Given the description of an element on the screen output the (x, y) to click on. 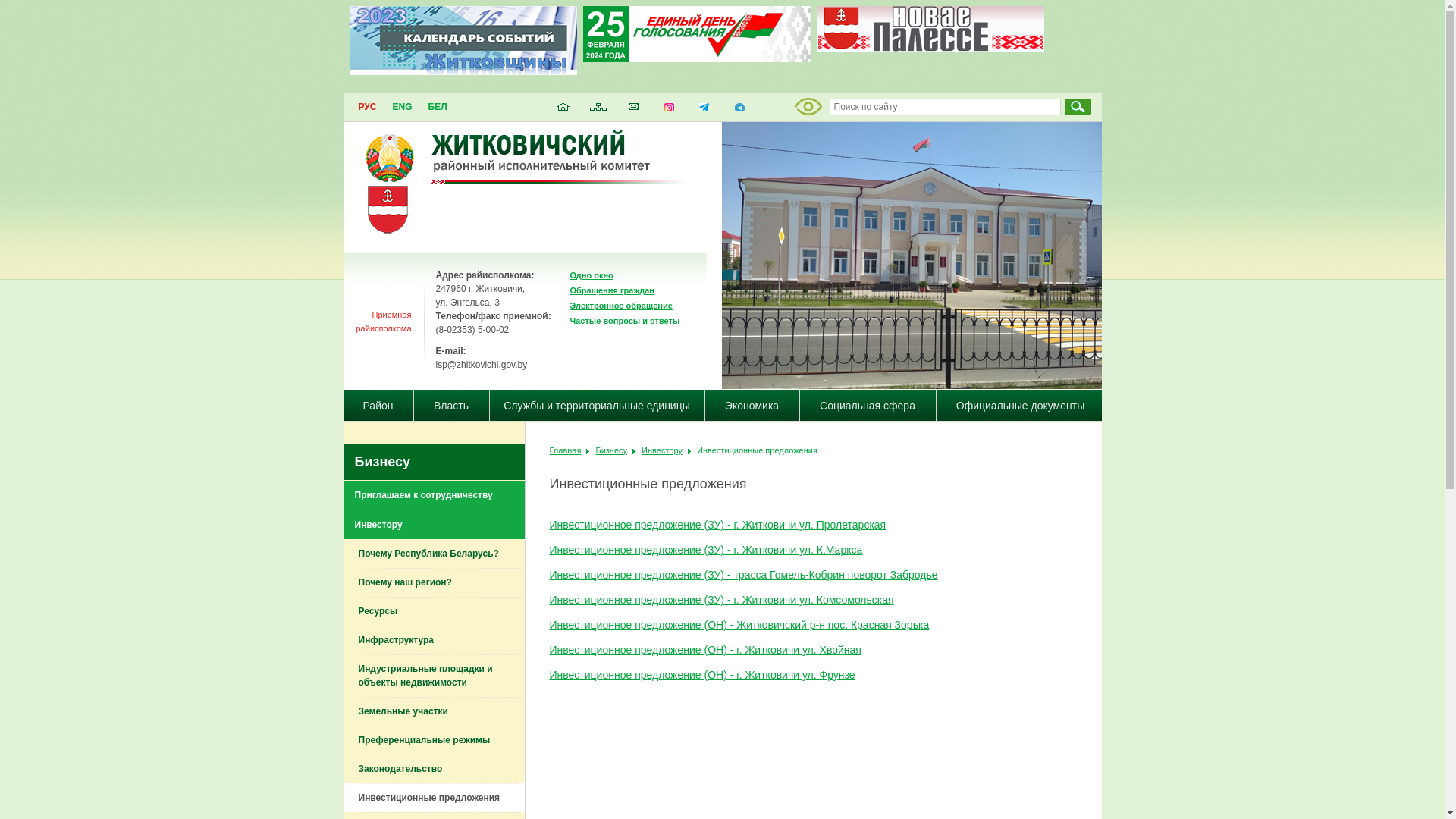
kalendar23 Element type: hover (462, 40)
instagram Element type: hover (669, 110)
kalendar23 Element type: hover (462, 71)
ENG Element type: text (401, 106)
